Given the description of an element on the screen output the (x, y) to click on. 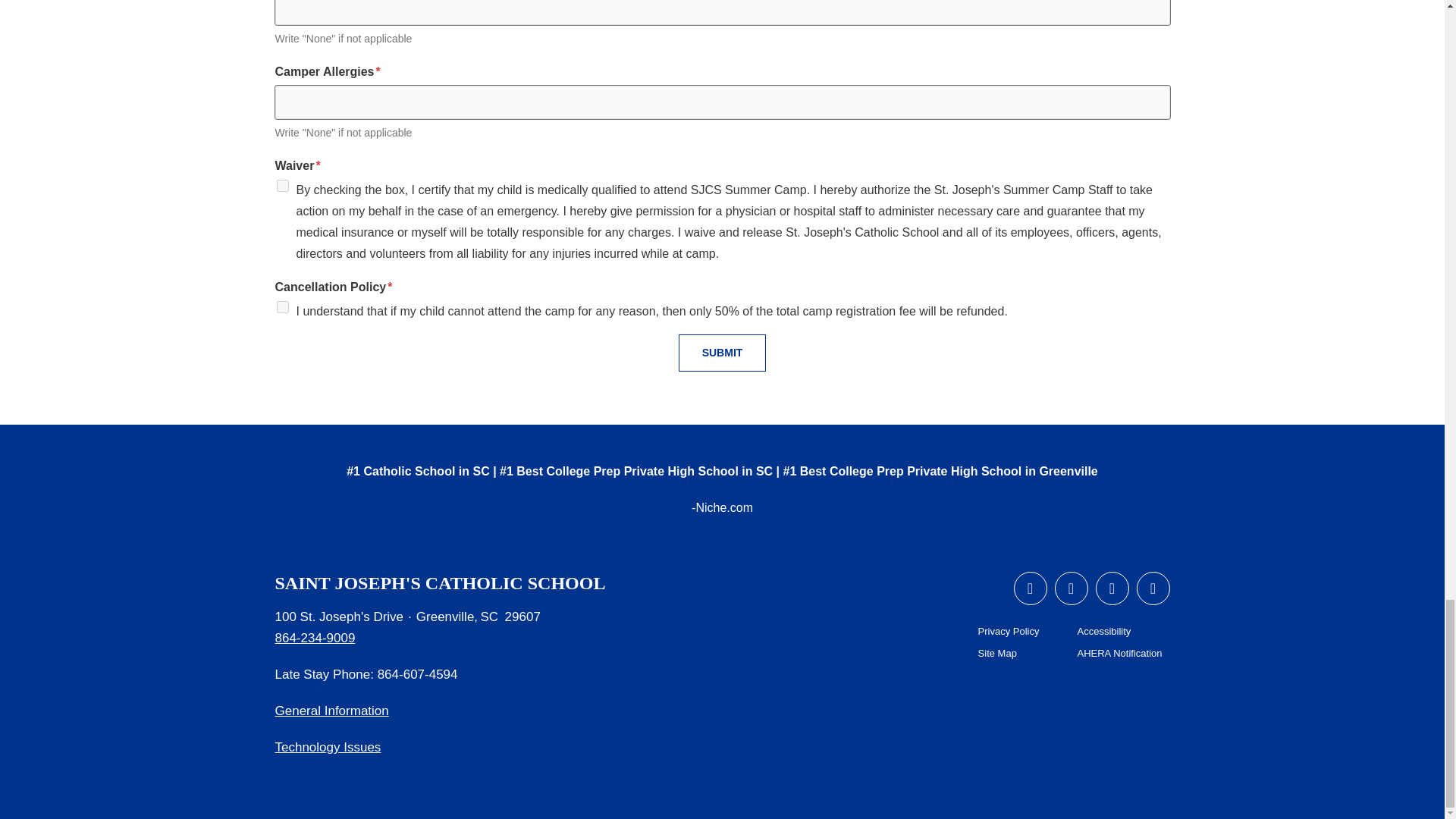
Powered by Finalsite opens in a new window (1386, 798)
